Given the description of an element on the screen output the (x, y) to click on. 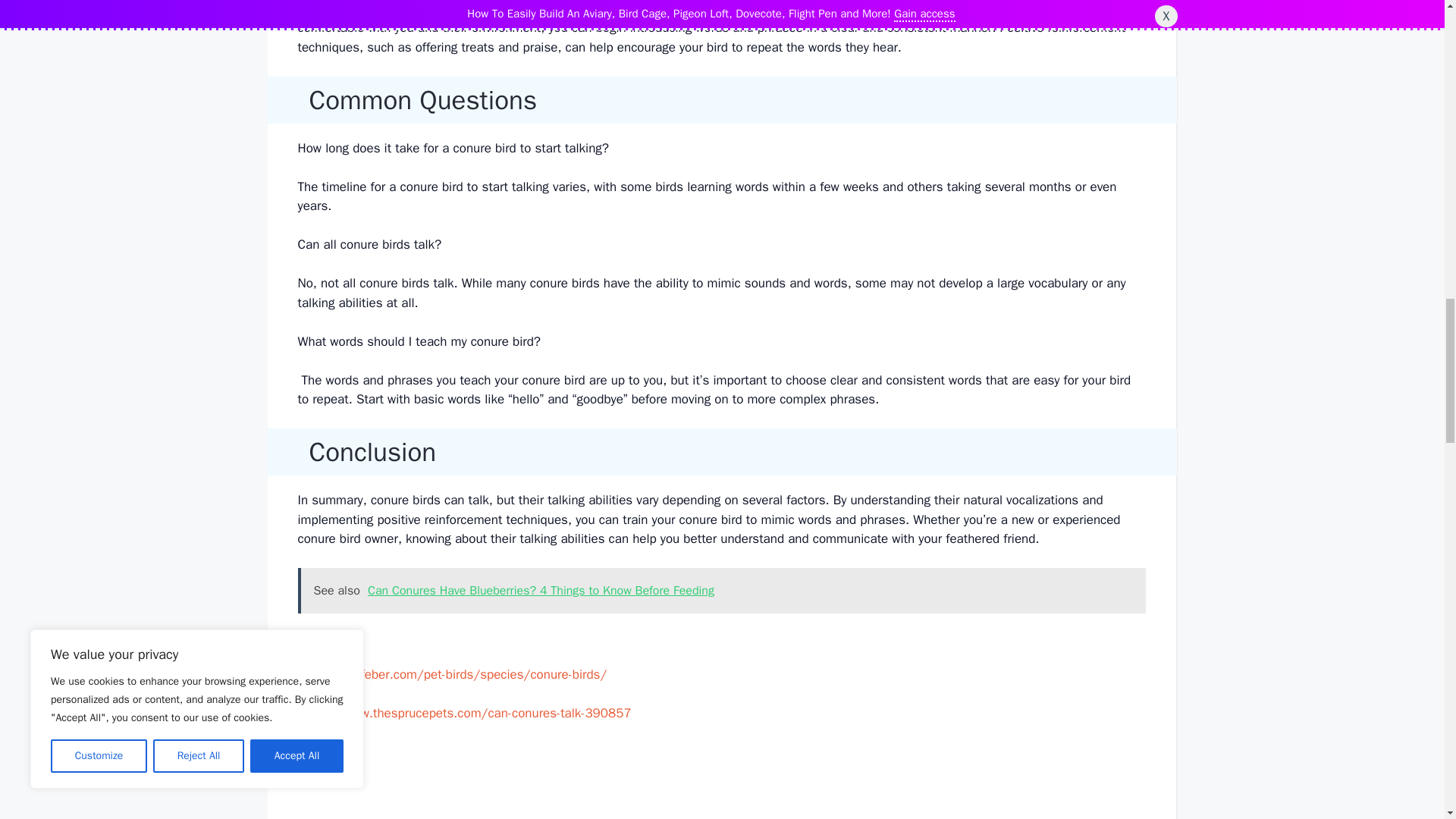
Advertisement (721, 780)
